Given the description of an element on the screen output the (x, y) to click on. 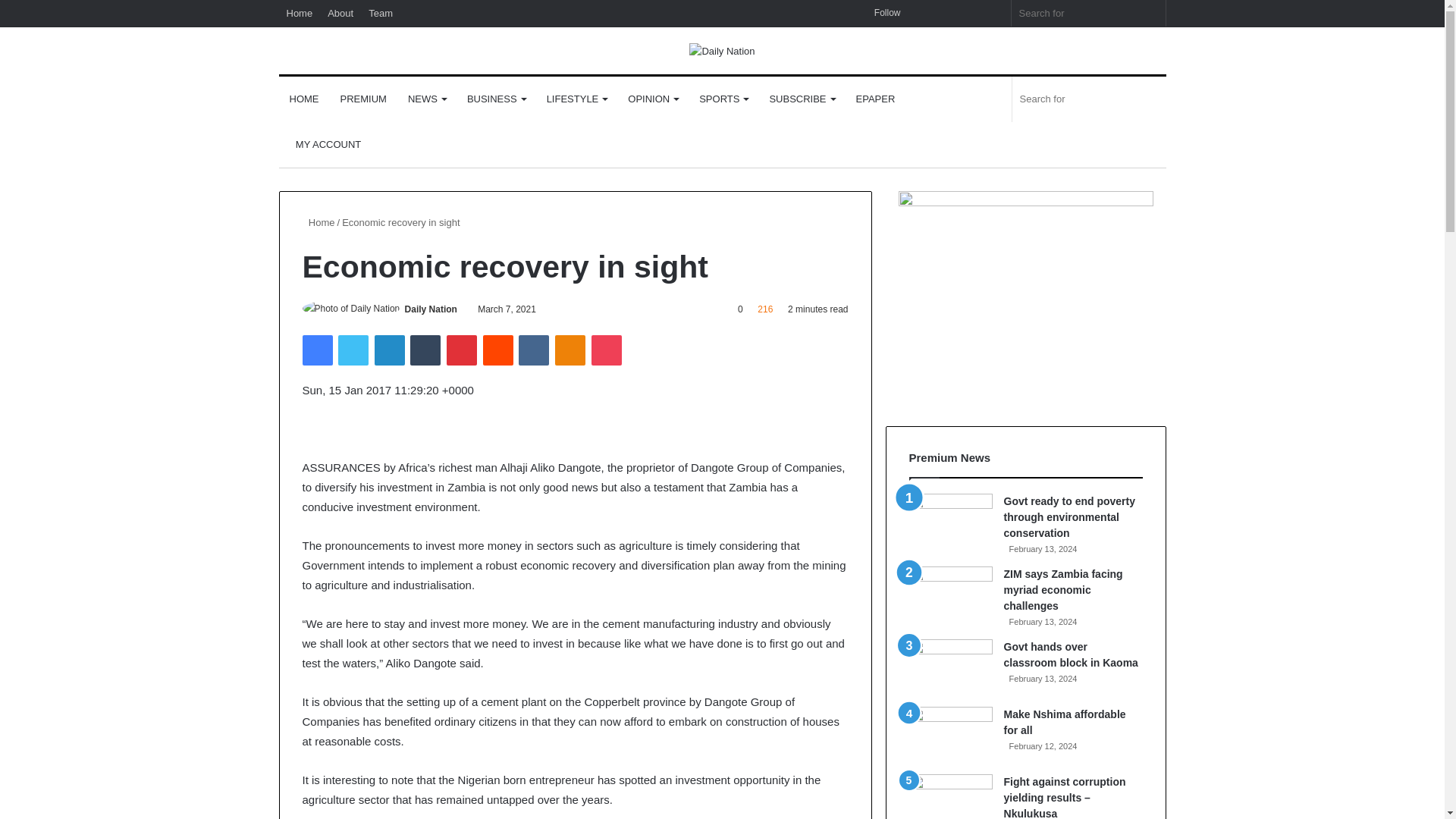
Team (380, 13)
Pinterest (461, 349)
Search for (1149, 13)
VKontakte (533, 349)
HOME (304, 99)
Follow (882, 13)
LinkedIn (389, 349)
Odnoklassniki (569, 349)
Daily Nation (721, 50)
Home (299, 13)
